Given the description of an element on the screen output the (x, y) to click on. 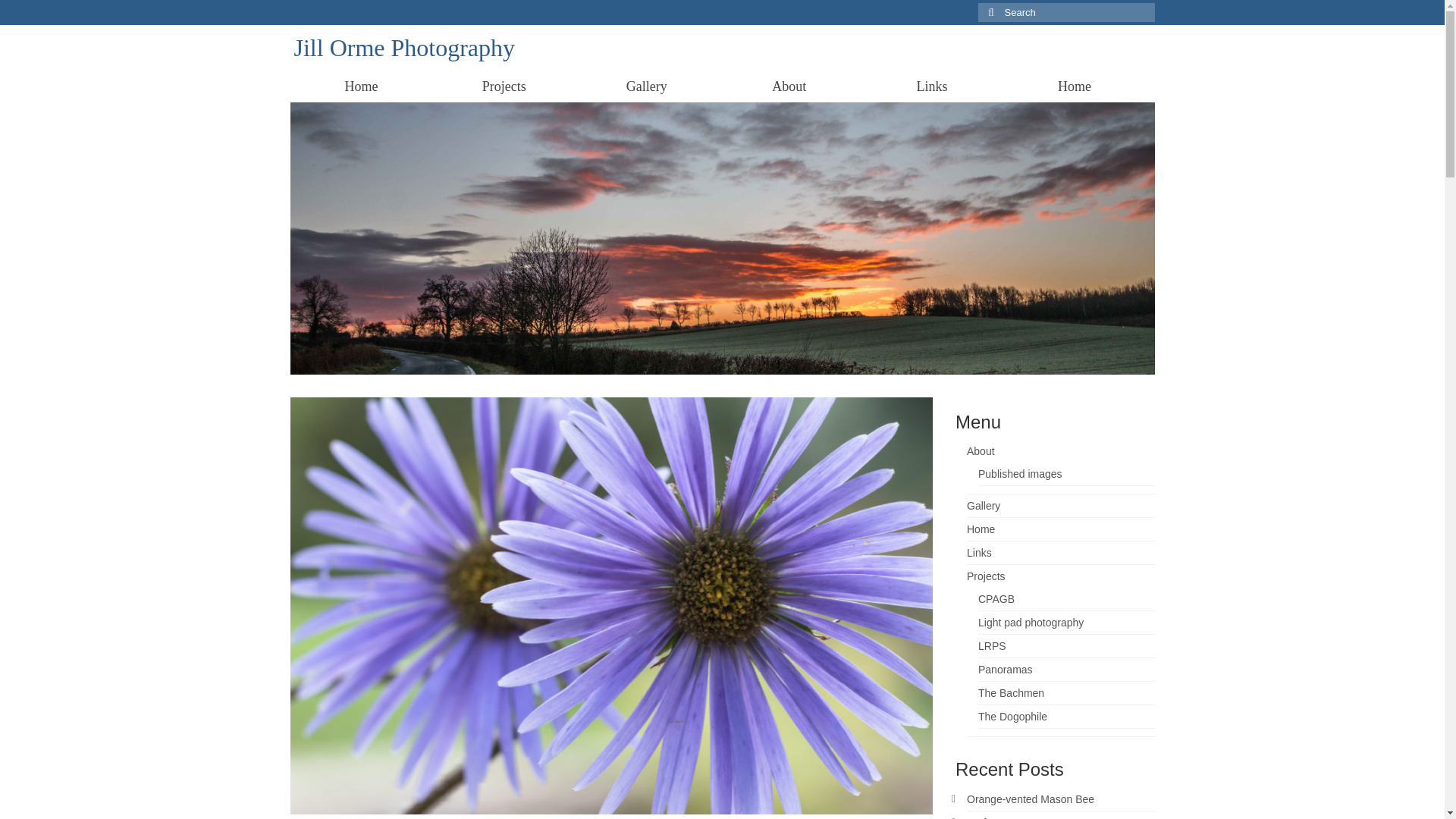
Jill Orme Photography (404, 47)
Home (360, 86)
About (788, 86)
Projects (503, 86)
Home (1074, 86)
Gallery (646, 86)
Links (931, 86)
